Given the description of an element on the screen output the (x, y) to click on. 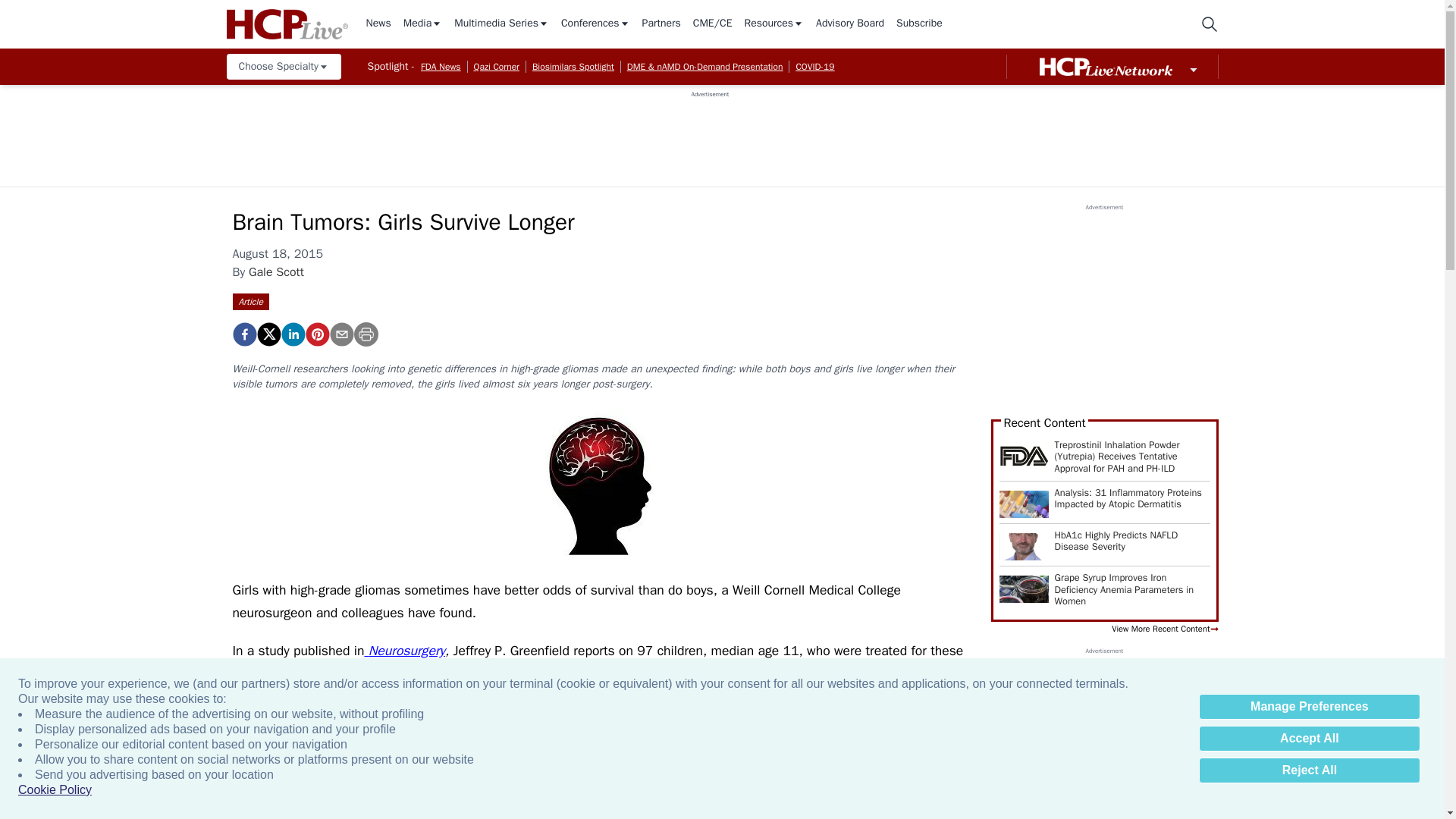
Media (422, 23)
Resources (773, 23)
Advisory Board (849, 23)
Conferences (595, 23)
News (377, 23)
Accept All (1309, 738)
Brain Tumors: Girls Survive Longer (243, 334)
Reject All (1309, 769)
Manage Preferences (1309, 706)
Cookie Policy (54, 789)
